Given the description of an element on the screen output the (x, y) to click on. 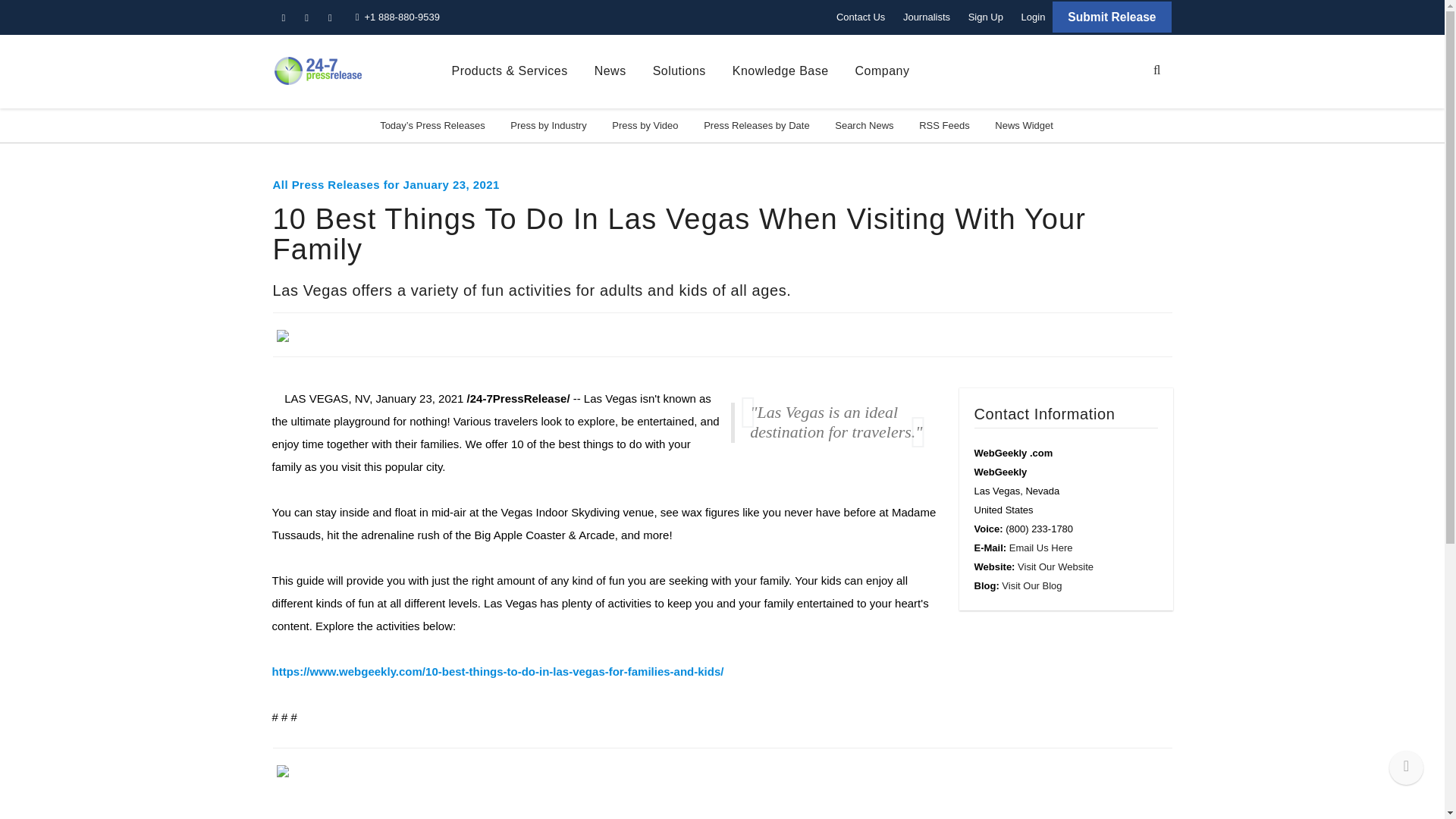
Login (1032, 16)
Solutions (679, 71)
Contact Us (860, 16)
Knowledge Base (780, 71)
Submit Release (1111, 16)
Journalists (926, 16)
Company (882, 71)
Sign Up (985, 16)
